Given the description of an element on the screen output the (x, y) to click on. 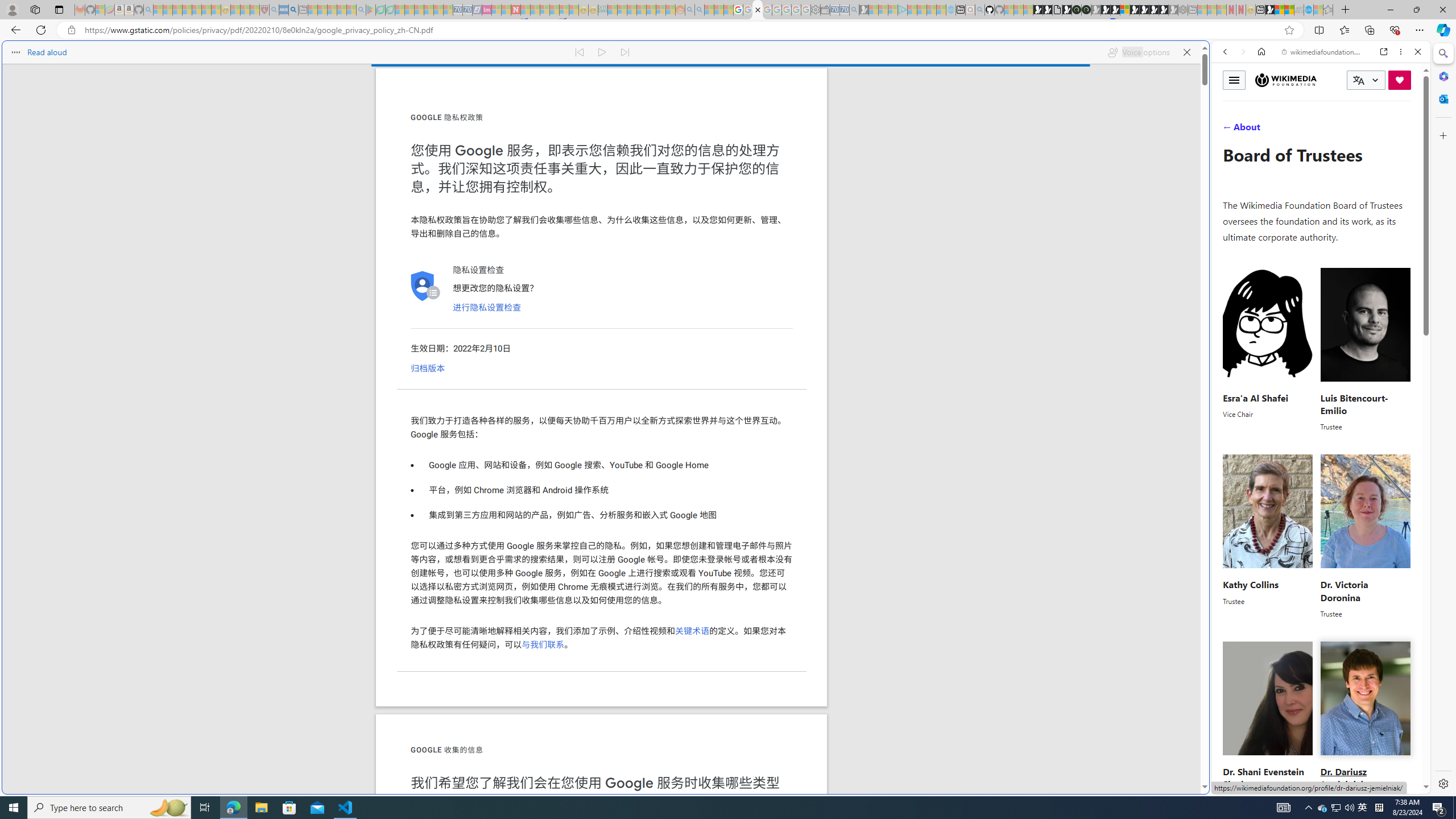
Wiktionary (1315, 380)
Shani Evenstein (1268, 698)
